Given the description of an element on the screen output the (x, y) to click on. 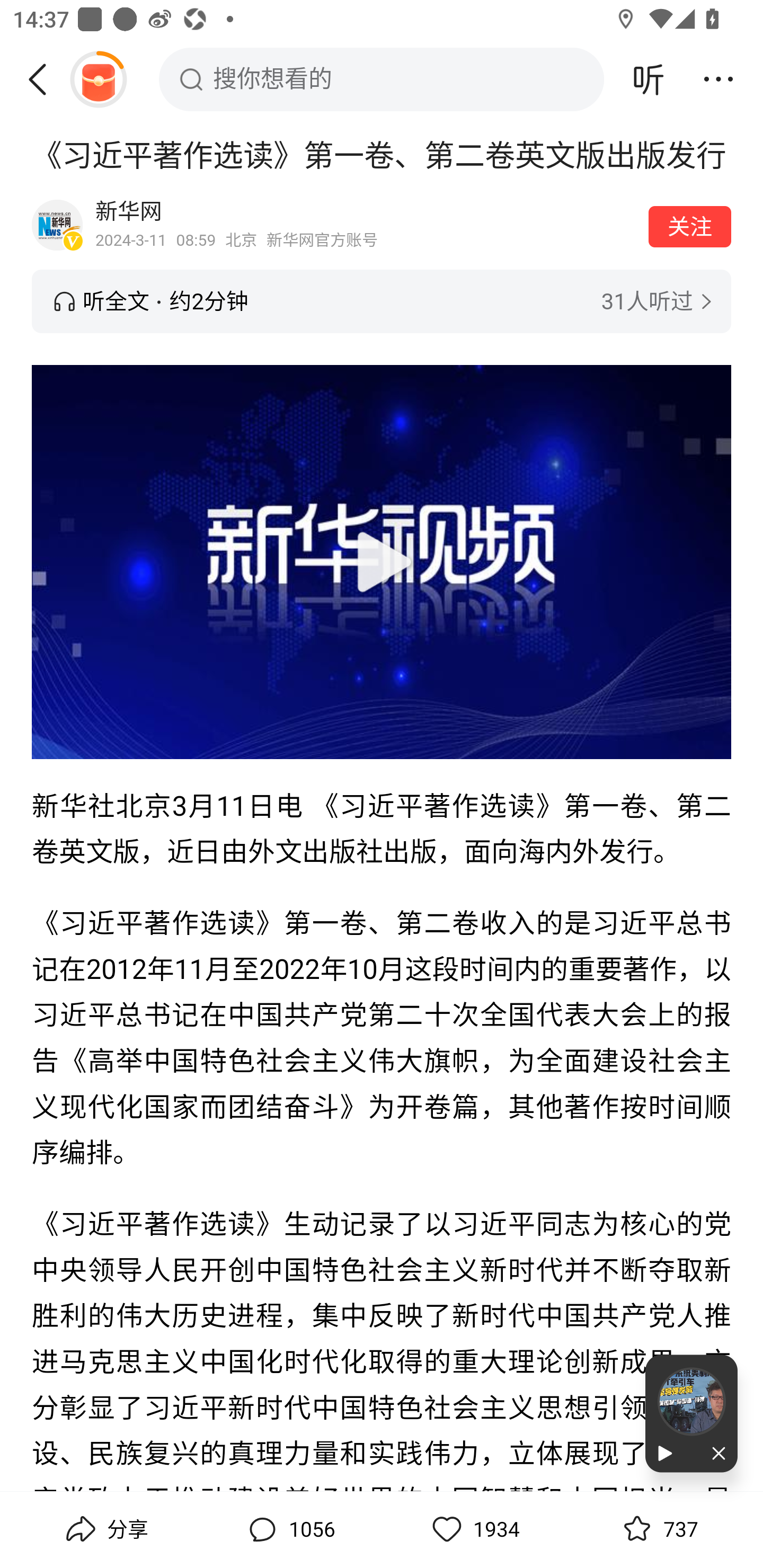
返回 (44, 78)
听头条 (648, 78)
更多操作 (718, 78)
搜你想看的 搜索框，搜你想看的 (381, 79)
阅读赚金币 (98, 79)
作者：新华网，简介：新华网官方账号，2024-3-11 08:59发布，北京 (365, 224)
关注作者 (689, 226)
听全文 约2分钟 31人听过 (381, 300)
播放视频 (381, 560)
播放视频 (381, 561)
当前进度 0% 播放 关闭 (691, 1413)
播放 (668, 1454)
关闭 (714, 1454)
分享 (104, 1529)
评论,1056 1056 (288, 1529)
收藏,737 737 (658, 1529)
